Given the description of an element on the screen output the (x, y) to click on. 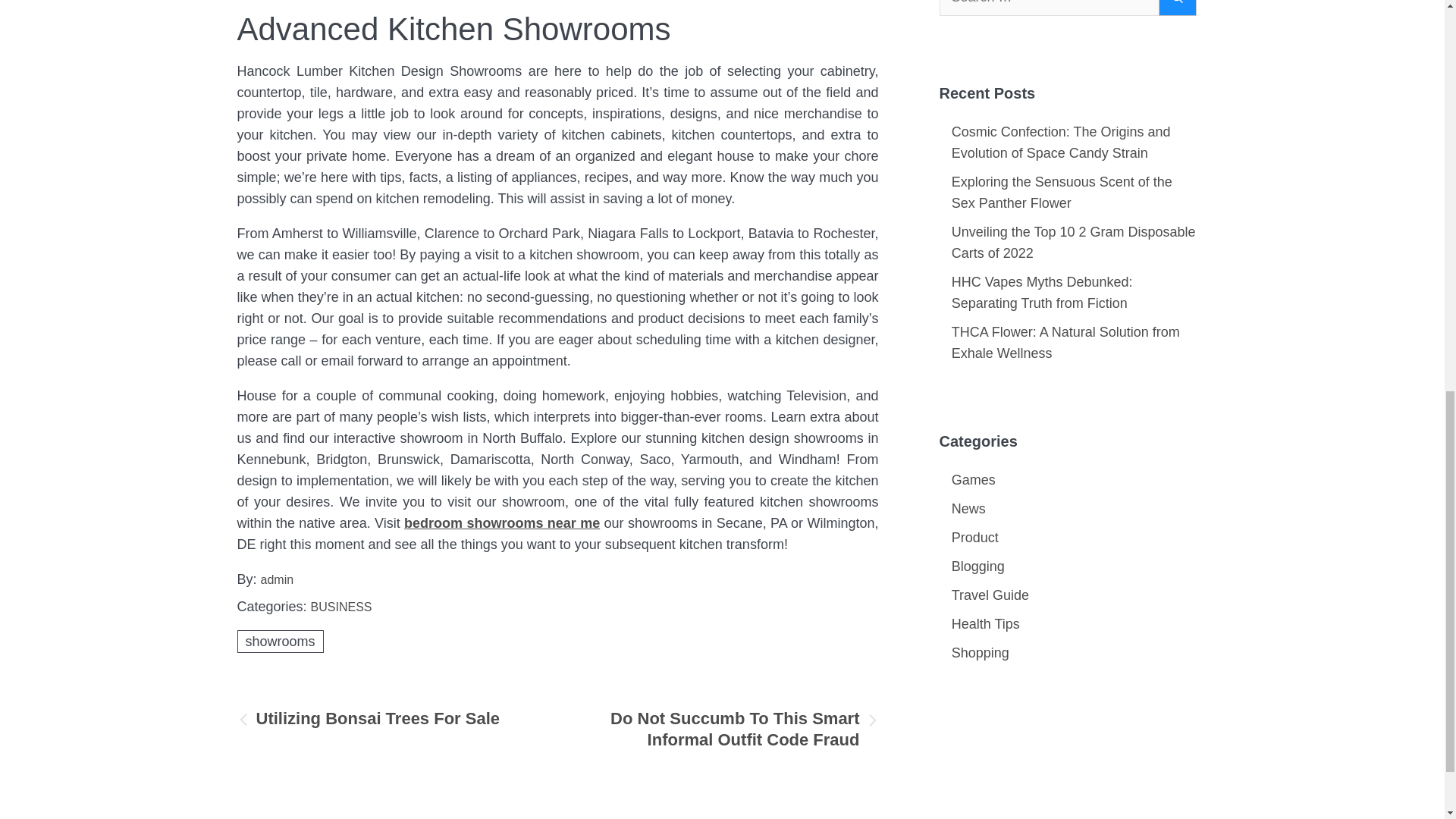
Blogging (978, 566)
Search (1177, 7)
News (968, 508)
showrooms (279, 640)
BUSINESS (341, 606)
bedroom showrooms near me (501, 522)
Product (975, 537)
Exploring the Sensuous Scent of the Sex Panther Flower (1062, 192)
admin (277, 579)
Unveiling the Top 10 2 Gram Disposable Carts of 2022 (1073, 242)
THCA Flower: A Natural Solution from Exhale Wellness (1065, 342)
Shopping (980, 652)
Games (973, 479)
Health Tips (986, 623)
